Given the description of an element on the screen output the (x, y) to click on. 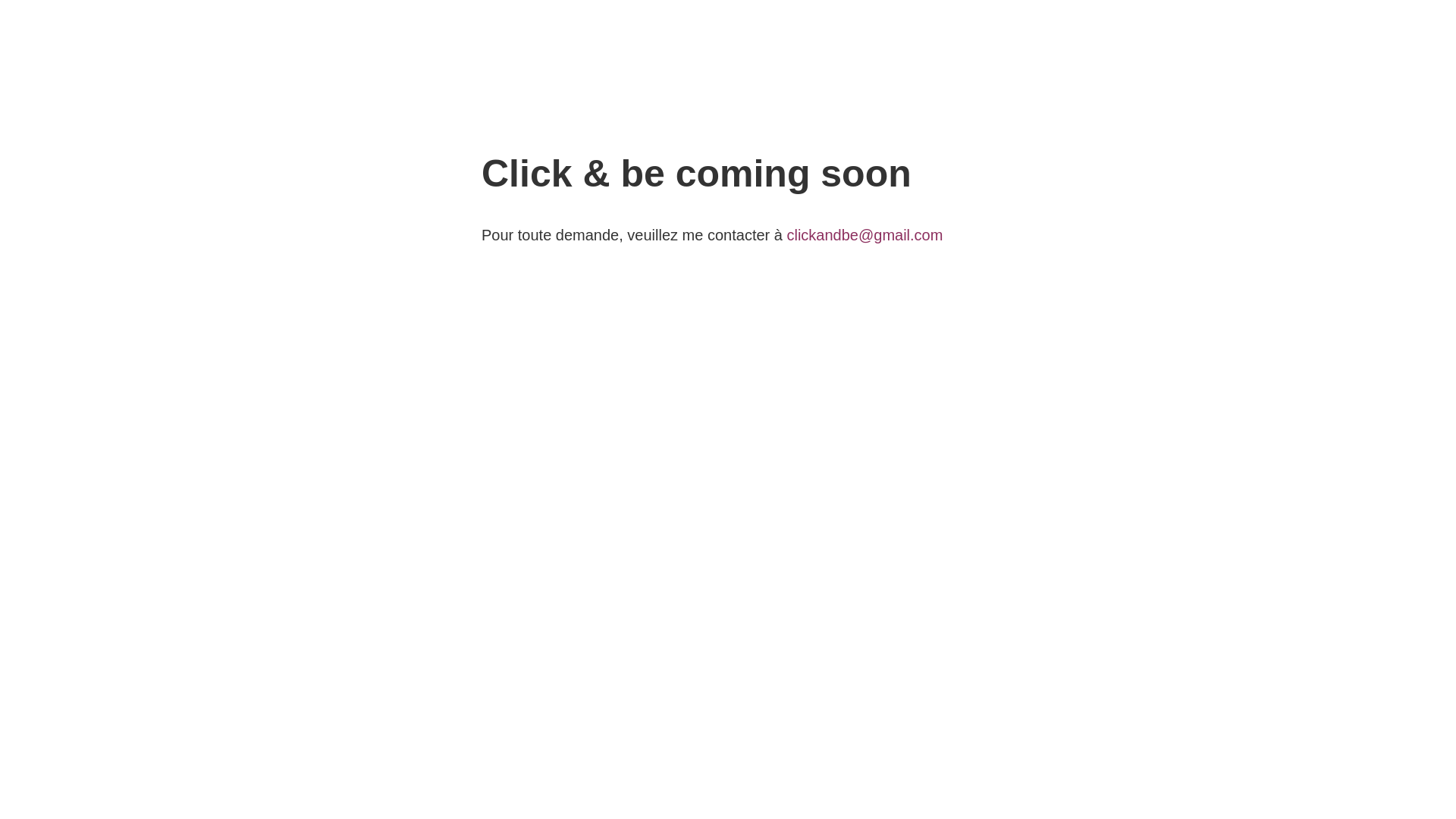
clickandbe@gmail.com Element type: text (864, 234)
